Given the description of an element on the screen output the (x, y) to click on. 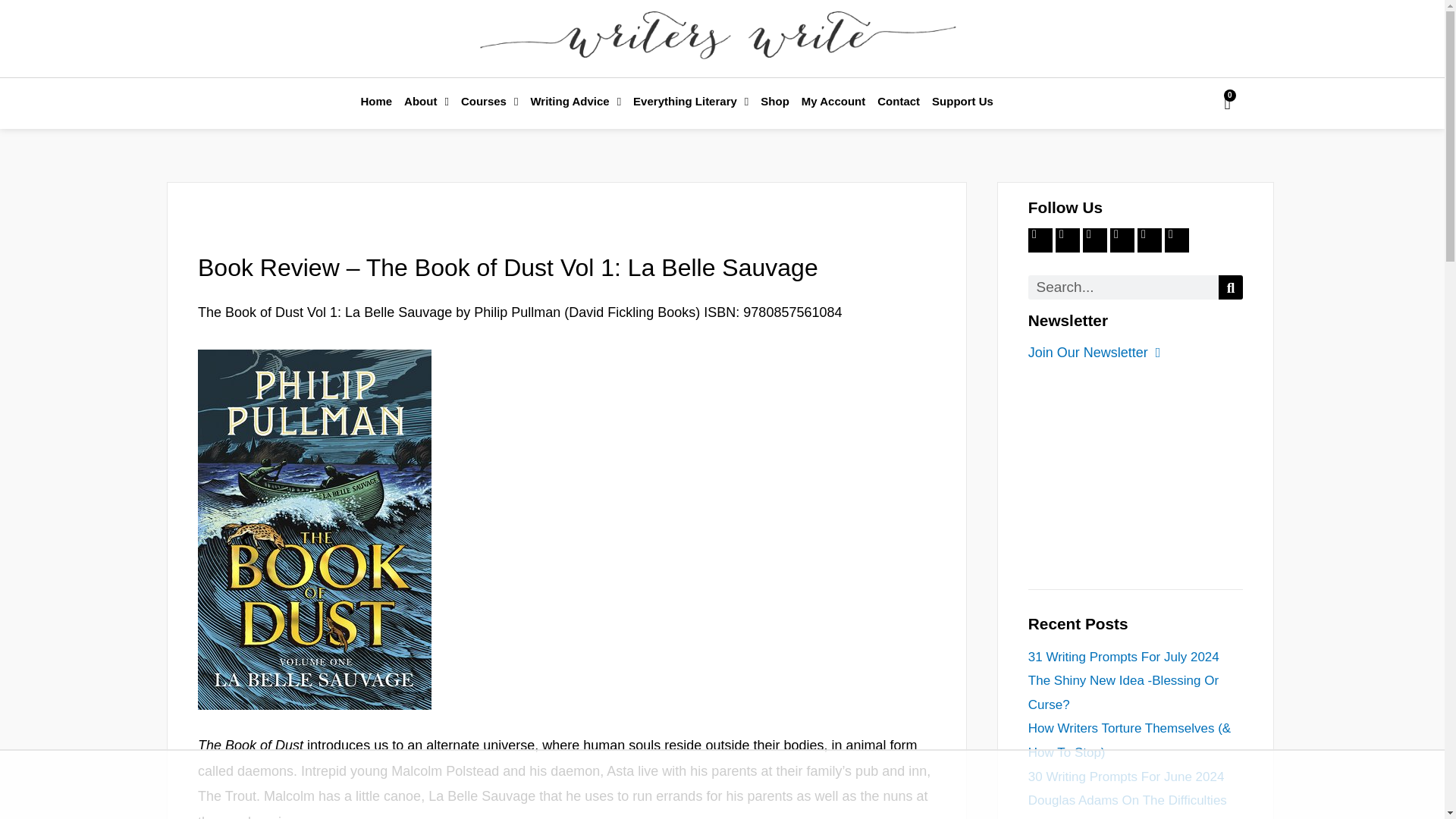
My Account (832, 101)
About (425, 101)
Courses (489, 101)
Support Us (962, 101)
Writing Advice (575, 101)
Home (375, 101)
Contact (898, 101)
Everything Literary (690, 101)
Shop (774, 101)
